Given the description of an element on the screen output the (x, y) to click on. 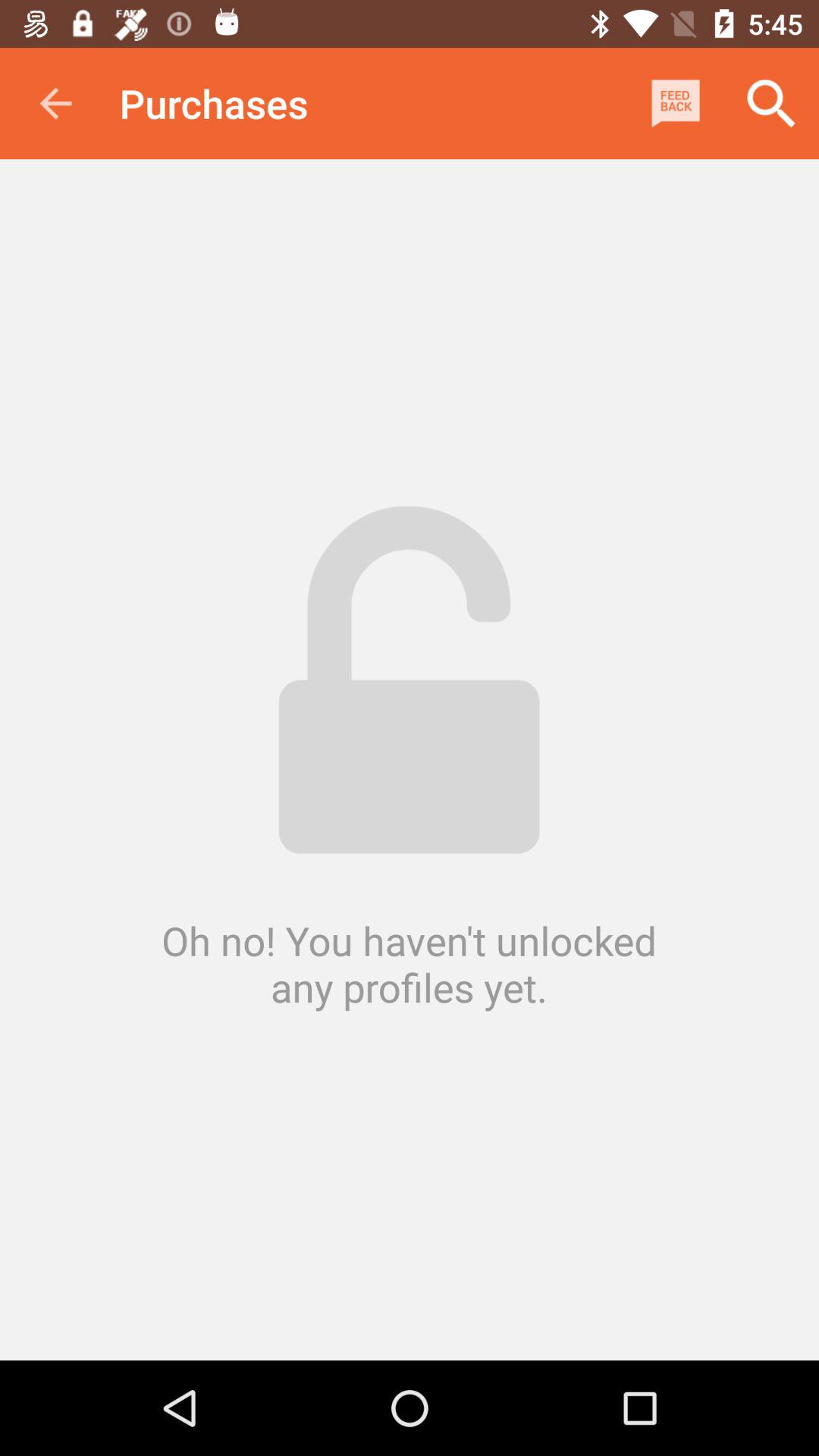
click app next to the purchases app (675, 103)
